Given the description of an element on the screen output the (x, y) to click on. 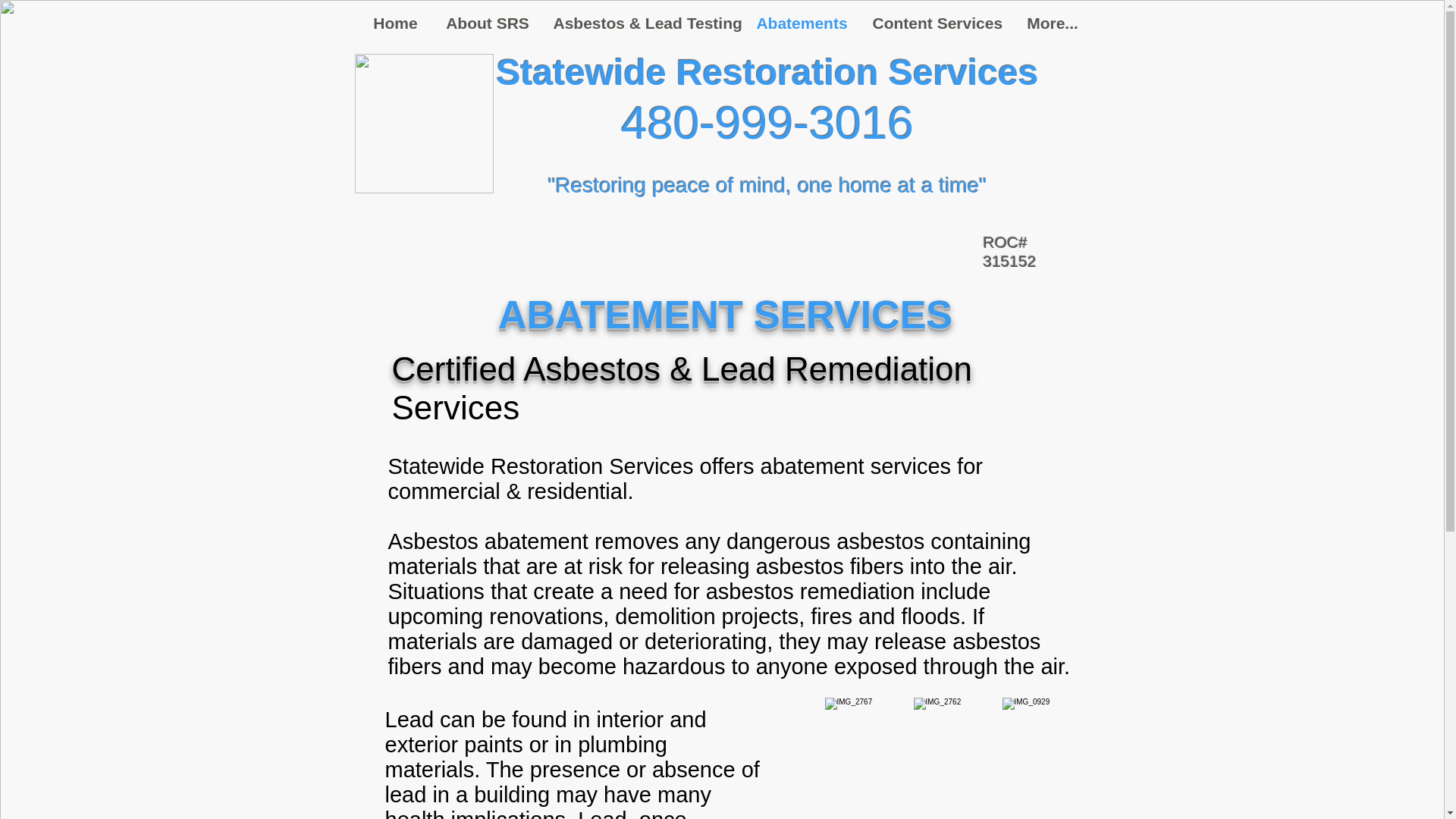
About SRS (487, 22)
Content Services (936, 22)
Abatements (801, 22)
Home (395, 22)
